Given the description of an element on the screen output the (x, y) to click on. 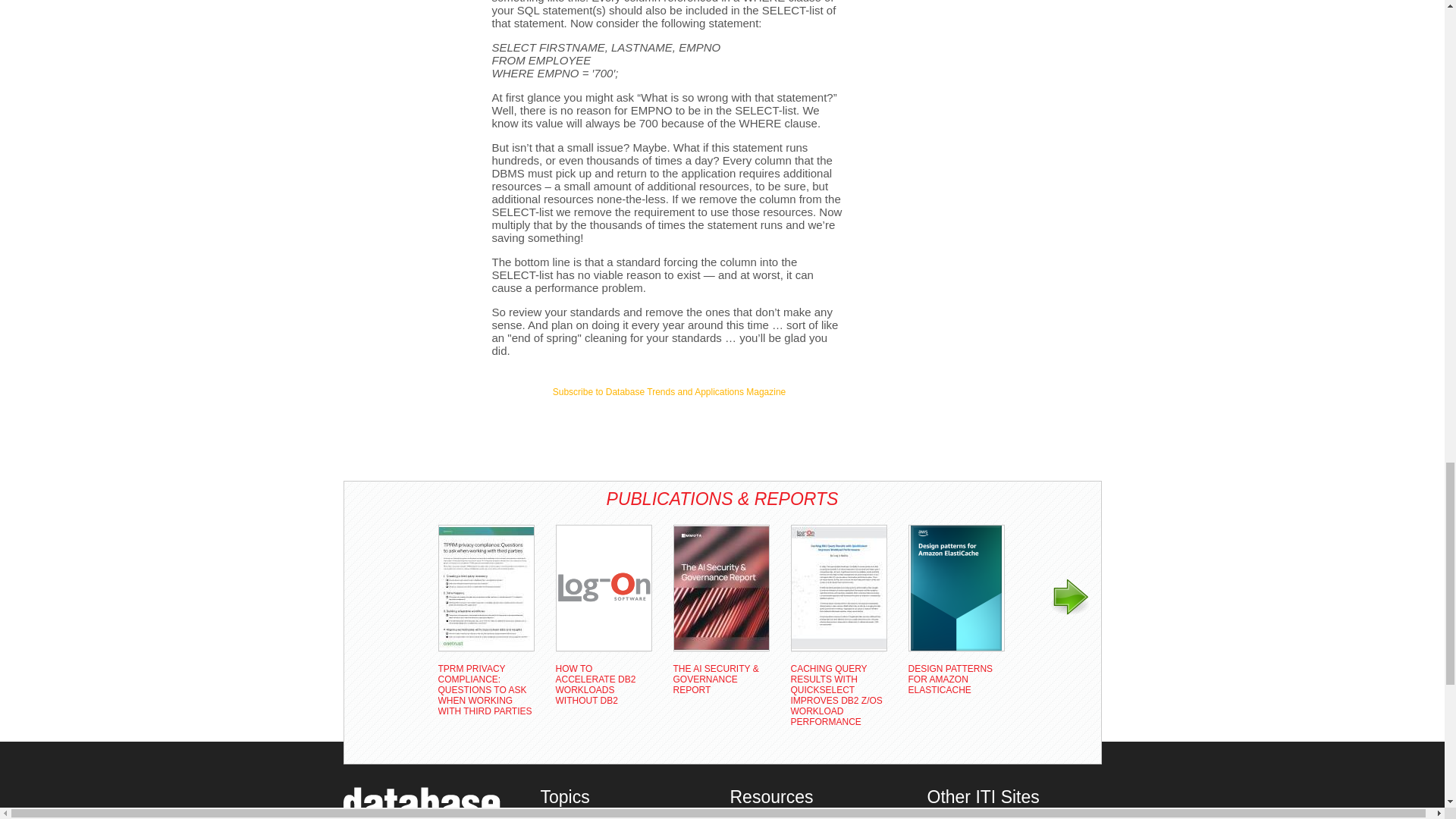
3rd party ad content (668, 427)
3rd party ad content (403, 46)
